Given the description of an element on the screen output the (x, y) to click on. 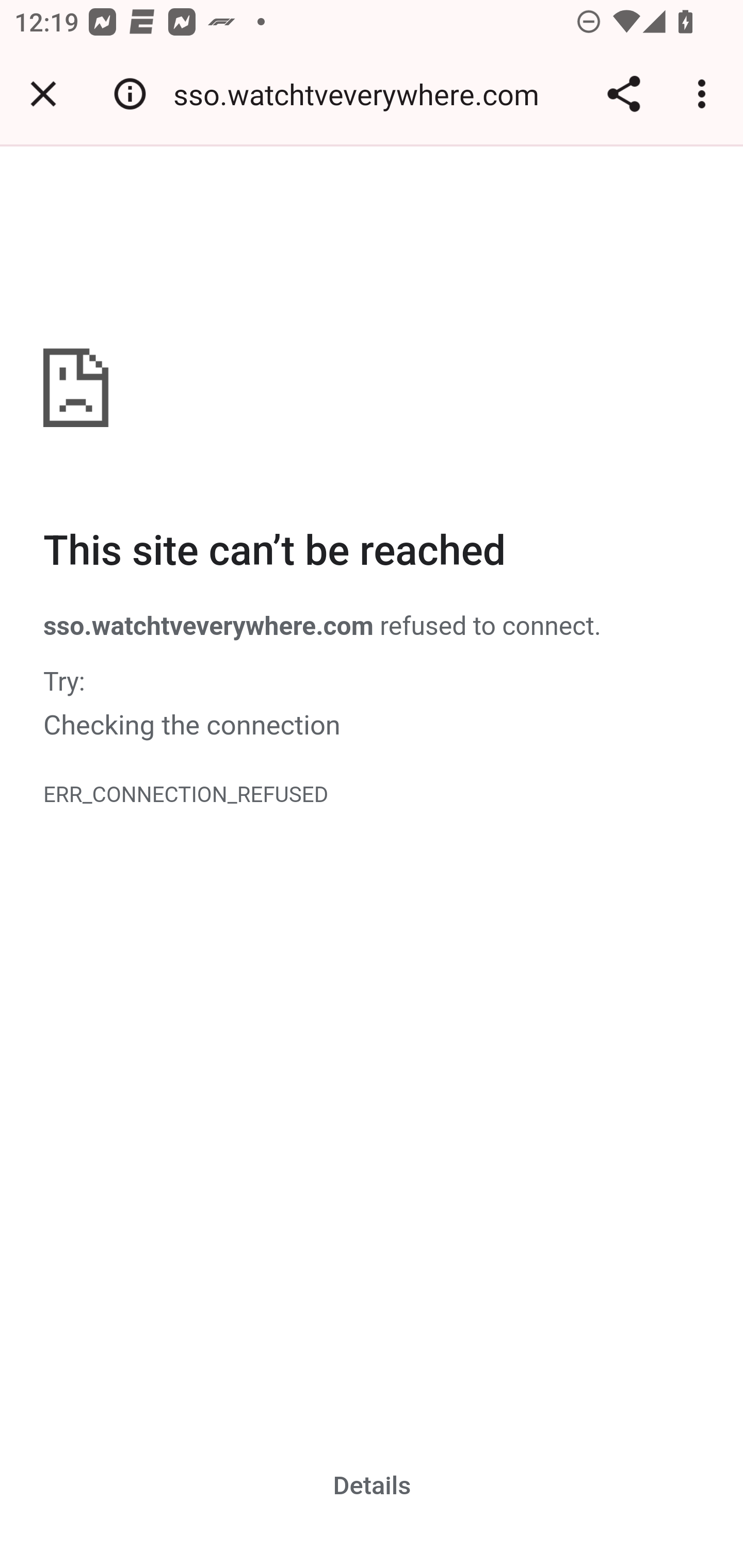
Close tab (43, 93)
Share (623, 93)
Customize and control Google Chrome (705, 93)
Your connection to this site is not secure (129, 93)
sso.watchtveverywhere.com (363, 93)
Details (372, 1485)
